Given the description of an element on the screen output the (x, y) to click on. 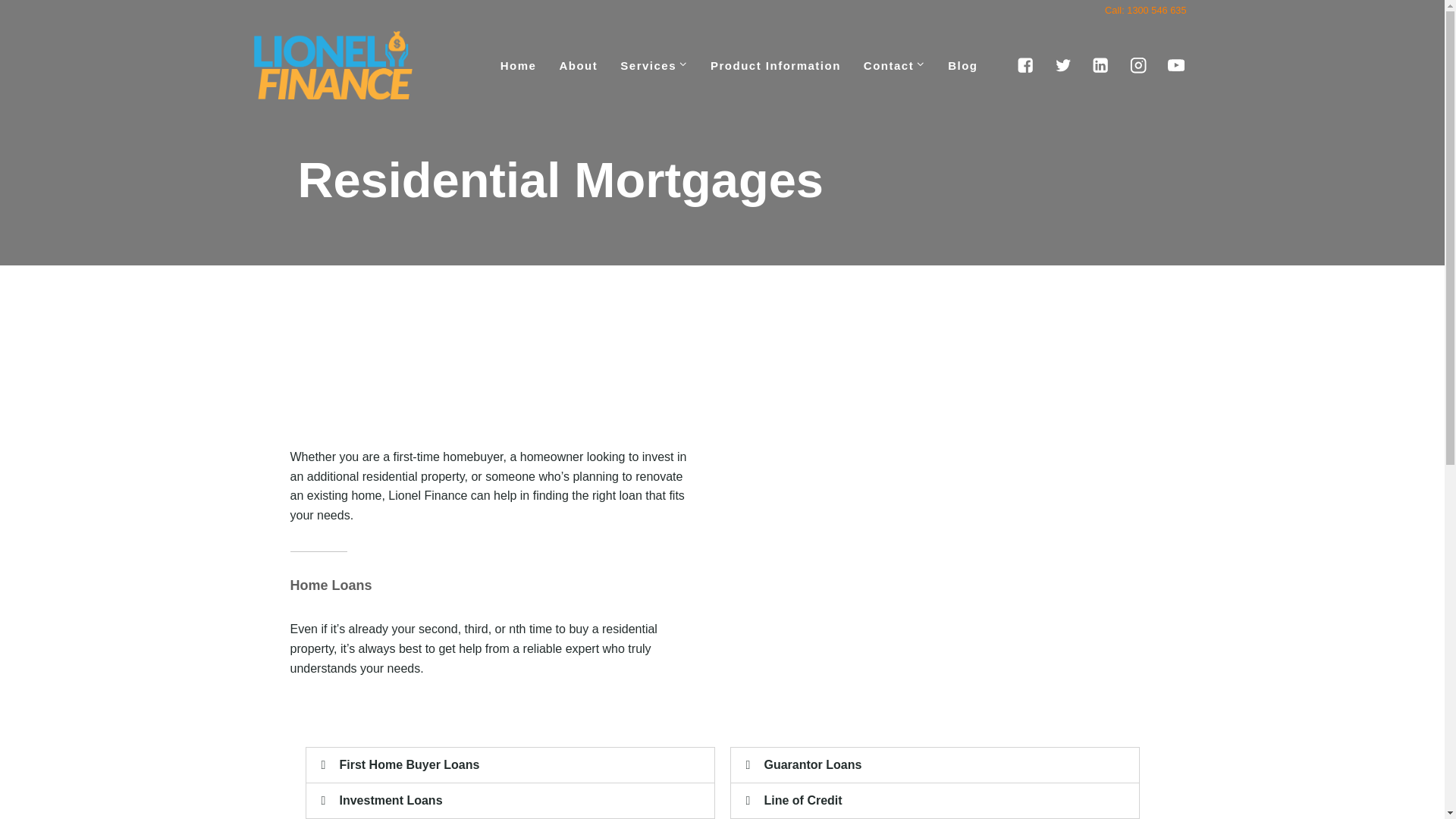
Investment Loans (390, 799)
Guarantor Loans (812, 764)
Blog (962, 65)
Services (653, 65)
Home (518, 65)
Call: 1300 546 635 (1144, 10)
First Home Buyer Loans (409, 764)
Line of Credit (803, 799)
Contact (893, 65)
Product Information (774, 65)
